Given the description of an element on the screen output the (x, y) to click on. 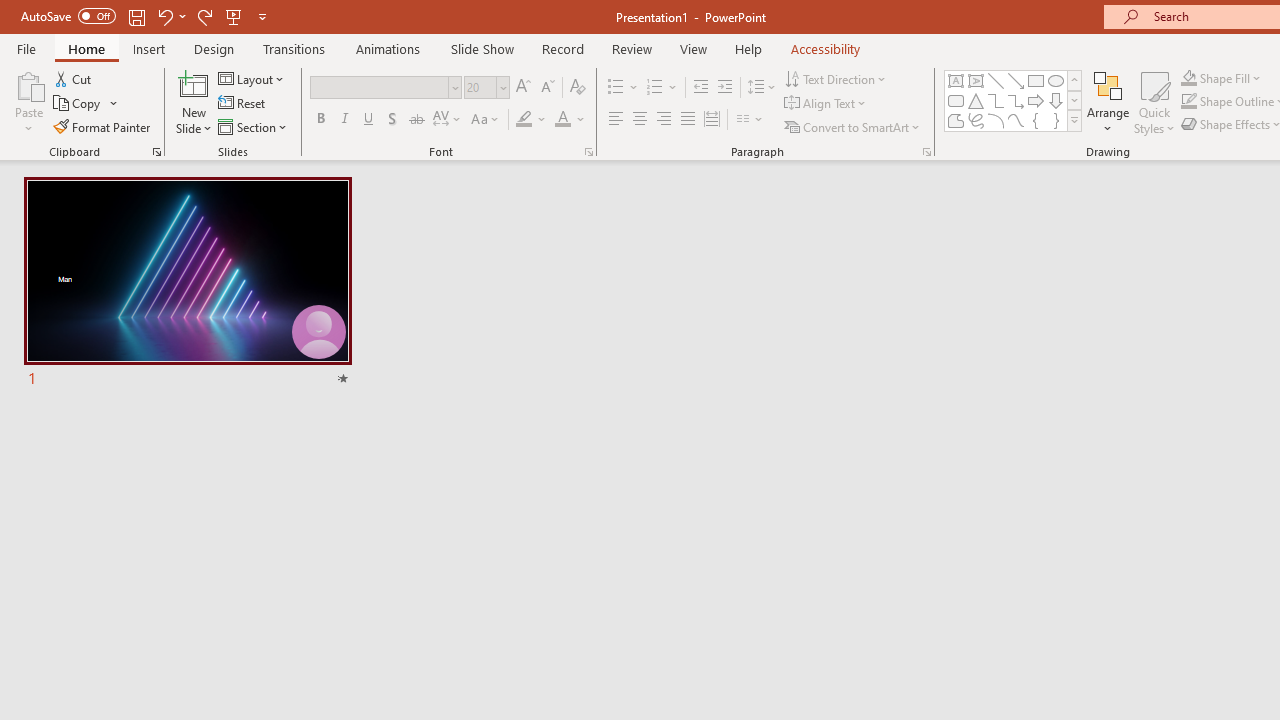
Shadow (392, 119)
Decrease Indent (700, 87)
Right Brace (1055, 120)
Increase Font Size (522, 87)
Line Arrow (1016, 80)
Strikethrough (416, 119)
Font... (588, 151)
Line Spacing (762, 87)
Reset (243, 103)
